Given the description of an element on the screen output the (x, y) to click on. 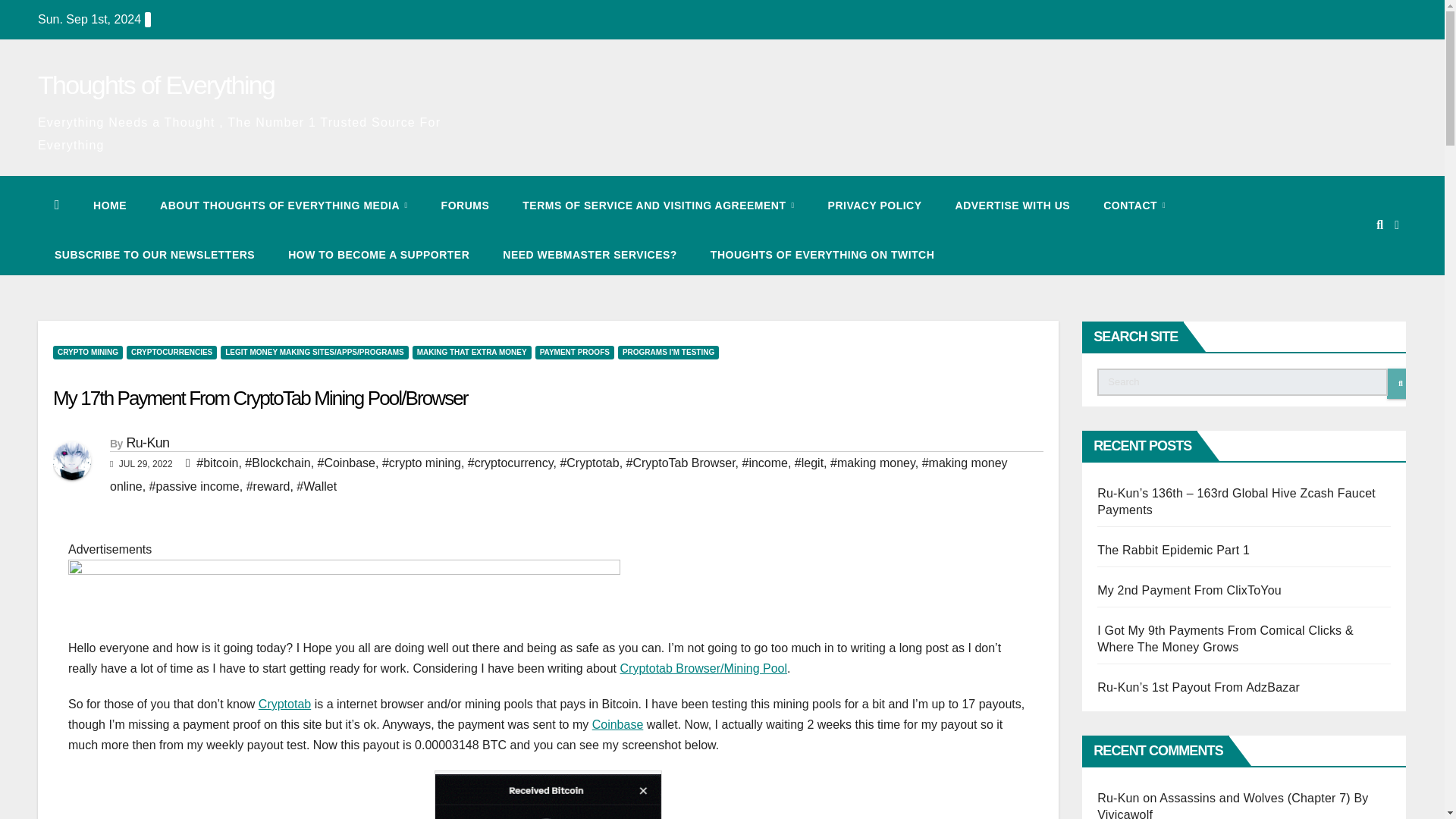
Advertise With Us (1013, 205)
Subscribe To Our Newsletters (153, 254)
CRYPTOCURRENCIES (171, 352)
PROGRAMS I'M TESTING (668, 352)
MAKING THAT EXTRA MONEY (471, 352)
ADVERTISE WITH US (1013, 205)
PRIVACY POLICY (874, 205)
HOW TO BECOME A SUPPORTER (378, 254)
Ru-Kun (146, 442)
ABOUT THOUGHTS OF EVERYTHING MEDIA (283, 205)
